Given the description of an element on the screen output the (x, y) to click on. 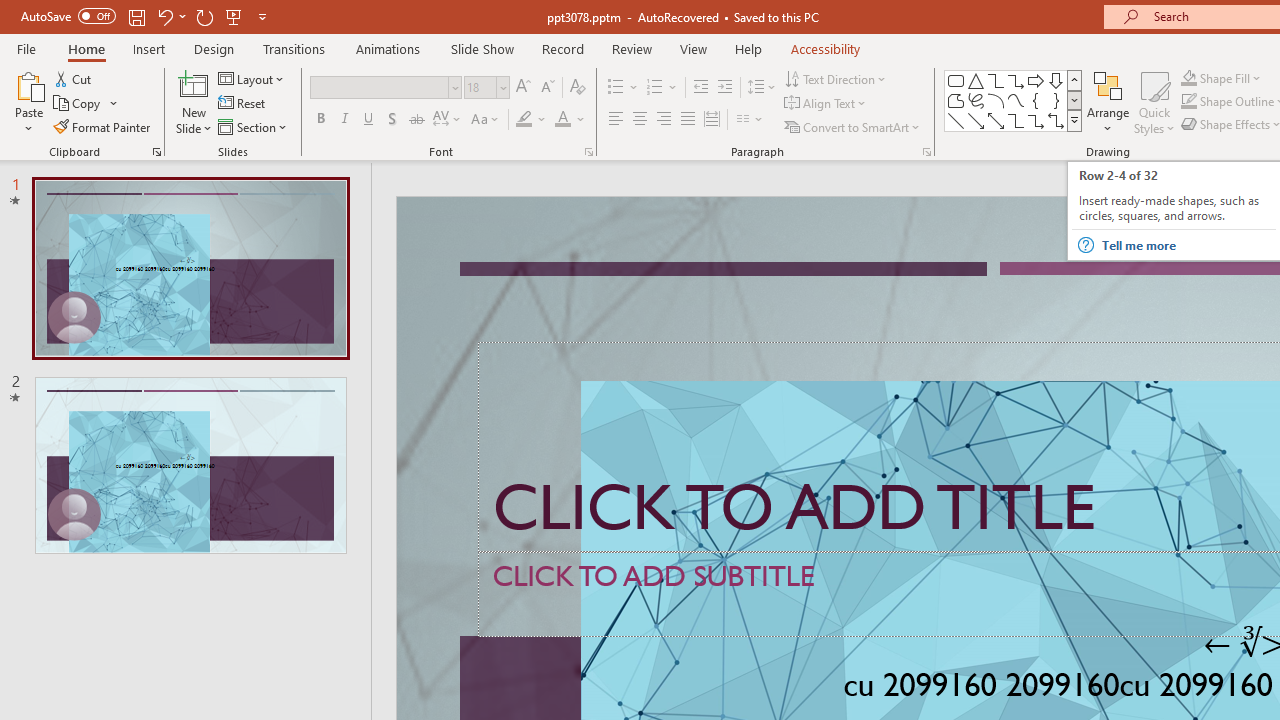
Bold (320, 119)
Freeform: Scribble (975, 100)
Shape Outline Green, Accent 1 (1188, 101)
Underline (369, 119)
Layout (252, 78)
Font Color Red (562, 119)
